Given the description of an element on the screen output the (x, y) to click on. 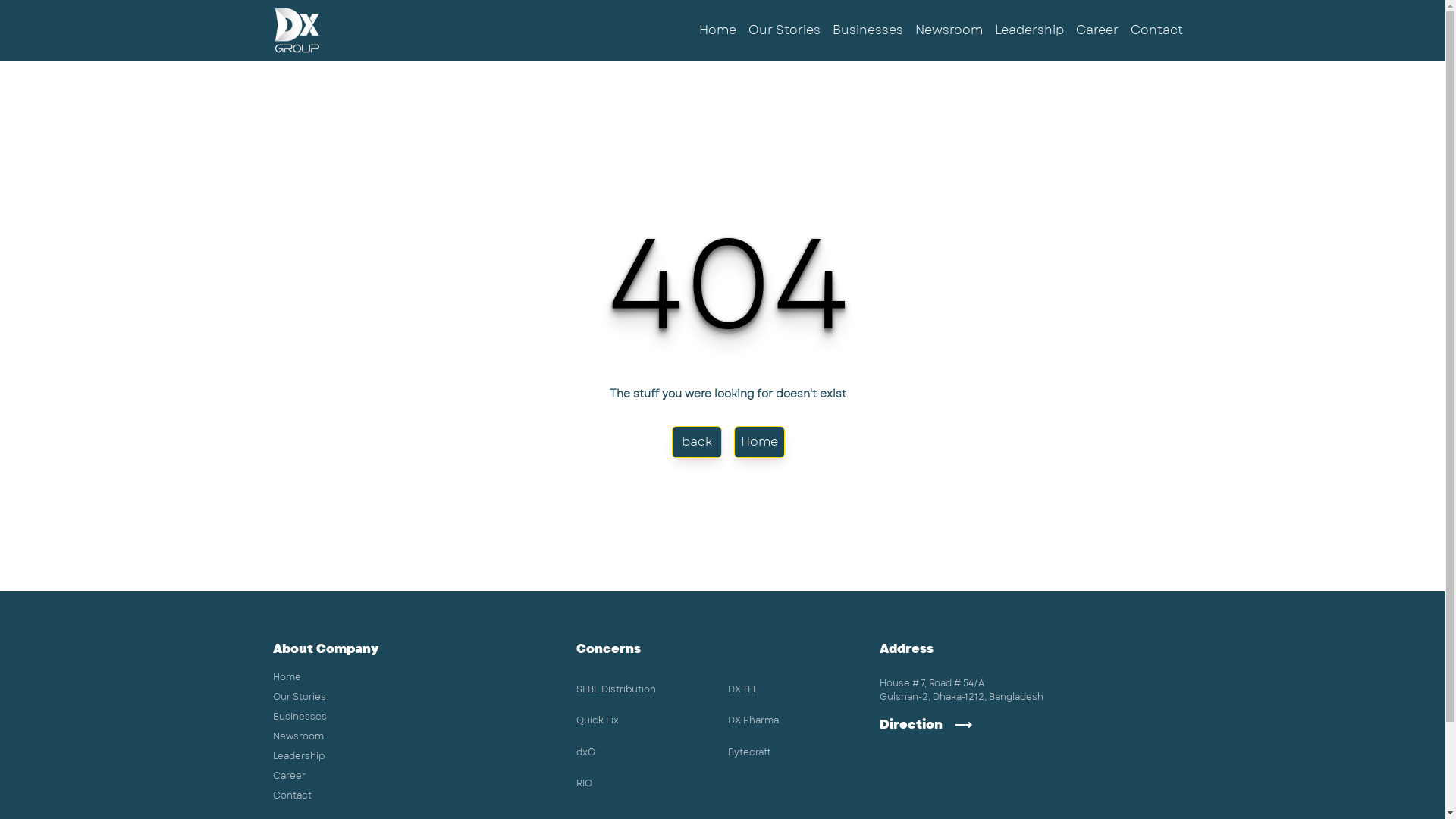
Home Element type: text (759, 442)
Career Element type: text (1097, 30)
Our Stories Element type: text (784, 30)
Leadership Element type: text (298, 755)
Leadership Element type: text (1028, 30)
Contact Element type: text (1156, 30)
Career Element type: text (289, 775)
Newsroom Element type: text (298, 736)
Home Element type: text (287, 677)
Home Element type: text (717, 30)
Businesses Element type: text (867, 30)
Newsroom Element type: text (948, 30)
Our Stories Element type: text (299, 696)
Direction Element type: text (1031, 724)
Businesses Element type: text (299, 716)
Contact Element type: text (292, 795)
